Given the description of an element on the screen output the (x, y) to click on. 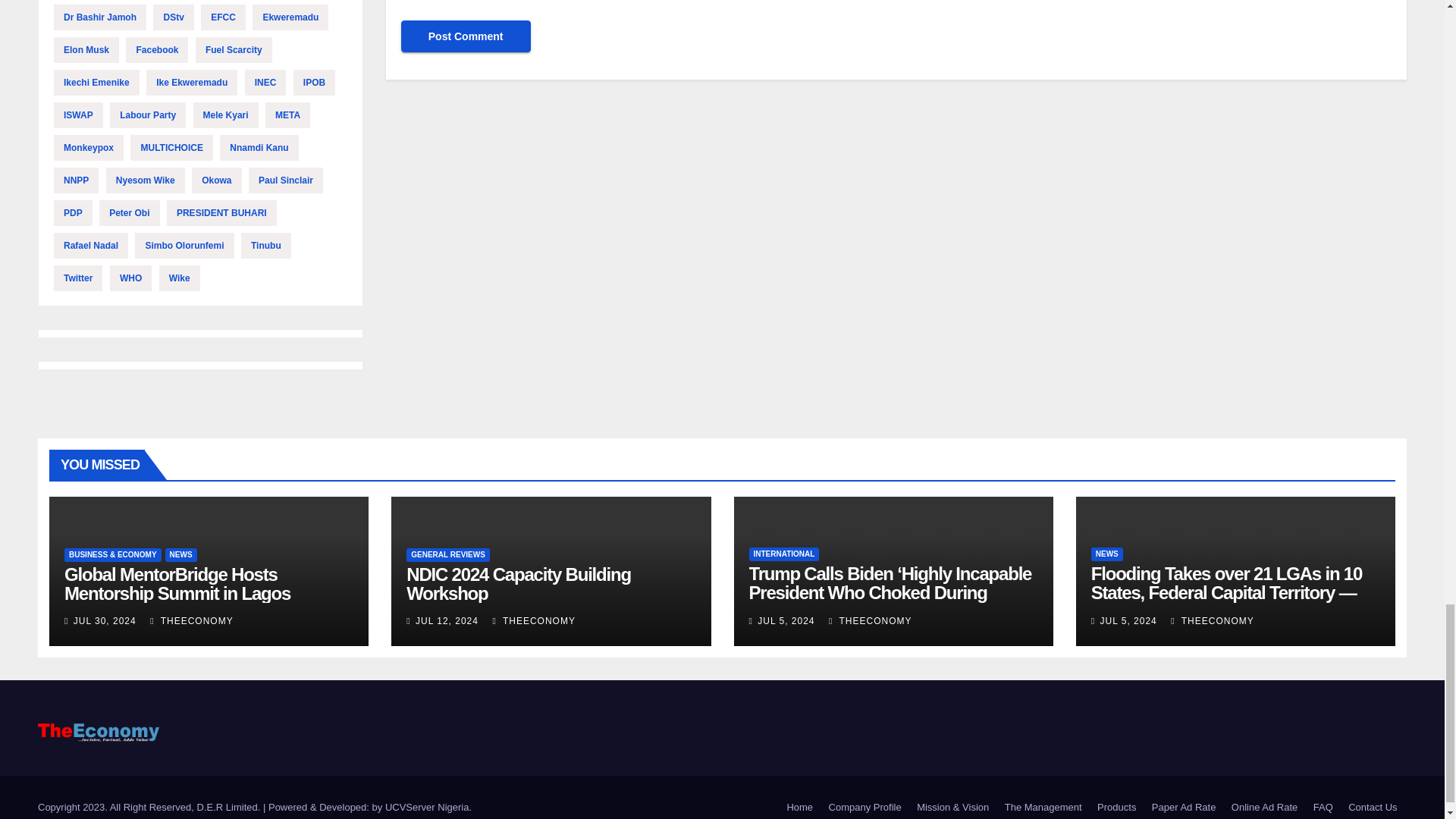
Post Comment (466, 36)
